Given the description of an element on the screen output the (x, y) to click on. 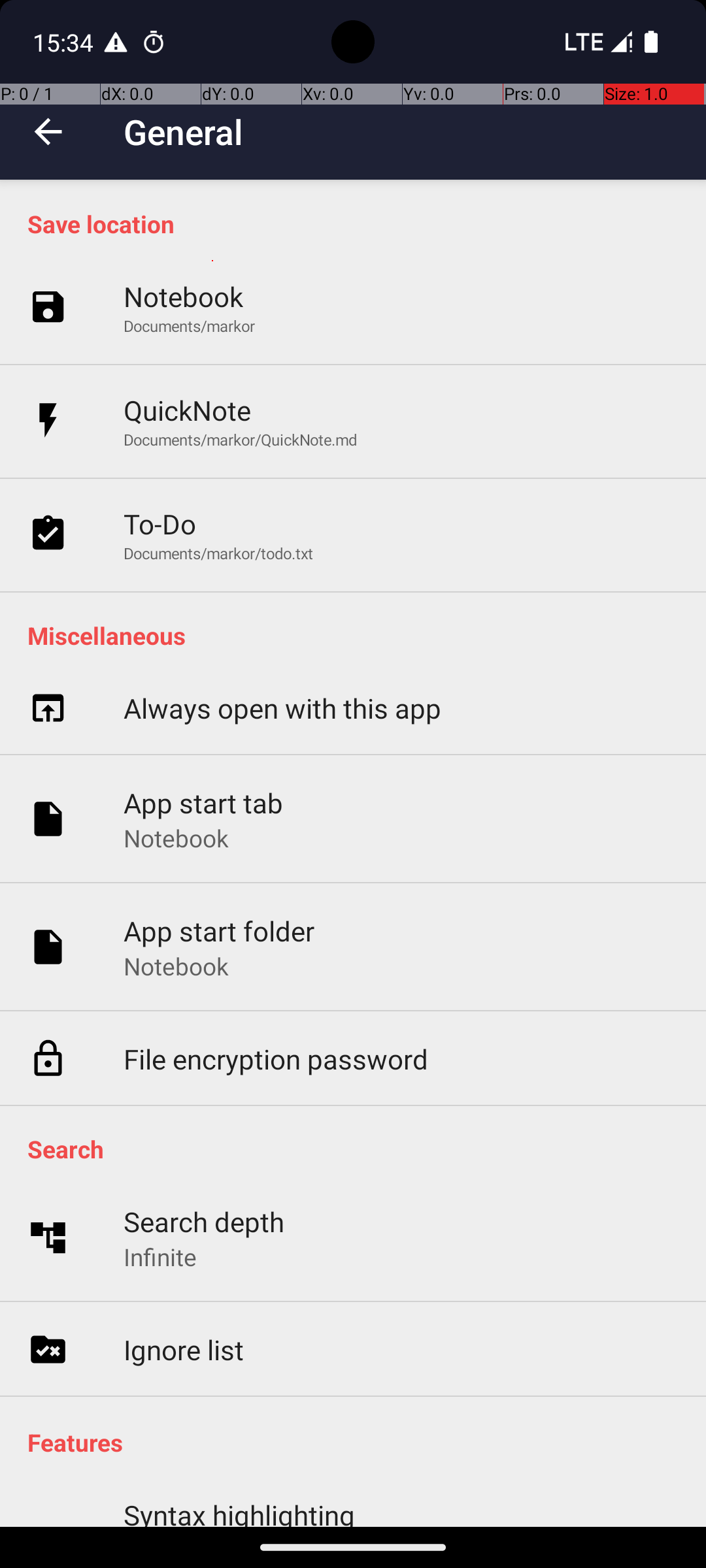
General Element type: android.widget.TextView (183, 131)
Save location Element type: android.widget.TextView (359, 223)
Miscellaneous Element type: android.widget.TextView (359, 635)
Features Element type: android.widget.TextView (359, 1441)
Notebook Element type: android.widget.TextView (183, 295)
Documents/markor Element type: android.widget.TextView (188, 325)
Documents/markor/QuickNote.md Element type: android.widget.TextView (239, 439)
Documents/markor/todo.txt Element type: android.widget.TextView (218, 552)
Always open with this app Element type: android.widget.TextView (282, 707)
App start tab Element type: android.widget.TextView (203, 802)
App start folder Element type: android.widget.TextView (219, 930)
File encryption password Element type: android.widget.TextView (275, 1058)
Search depth Element type: android.widget.TextView (203, 1221)
Infinite Element type: android.widget.TextView (159, 1256)
Ignore list Element type: android.widget.TextView (183, 1349)
Syntax highlighting Element type: android.widget.TextView (238, 1511)
